Given the description of an element on the screen output the (x, y) to click on. 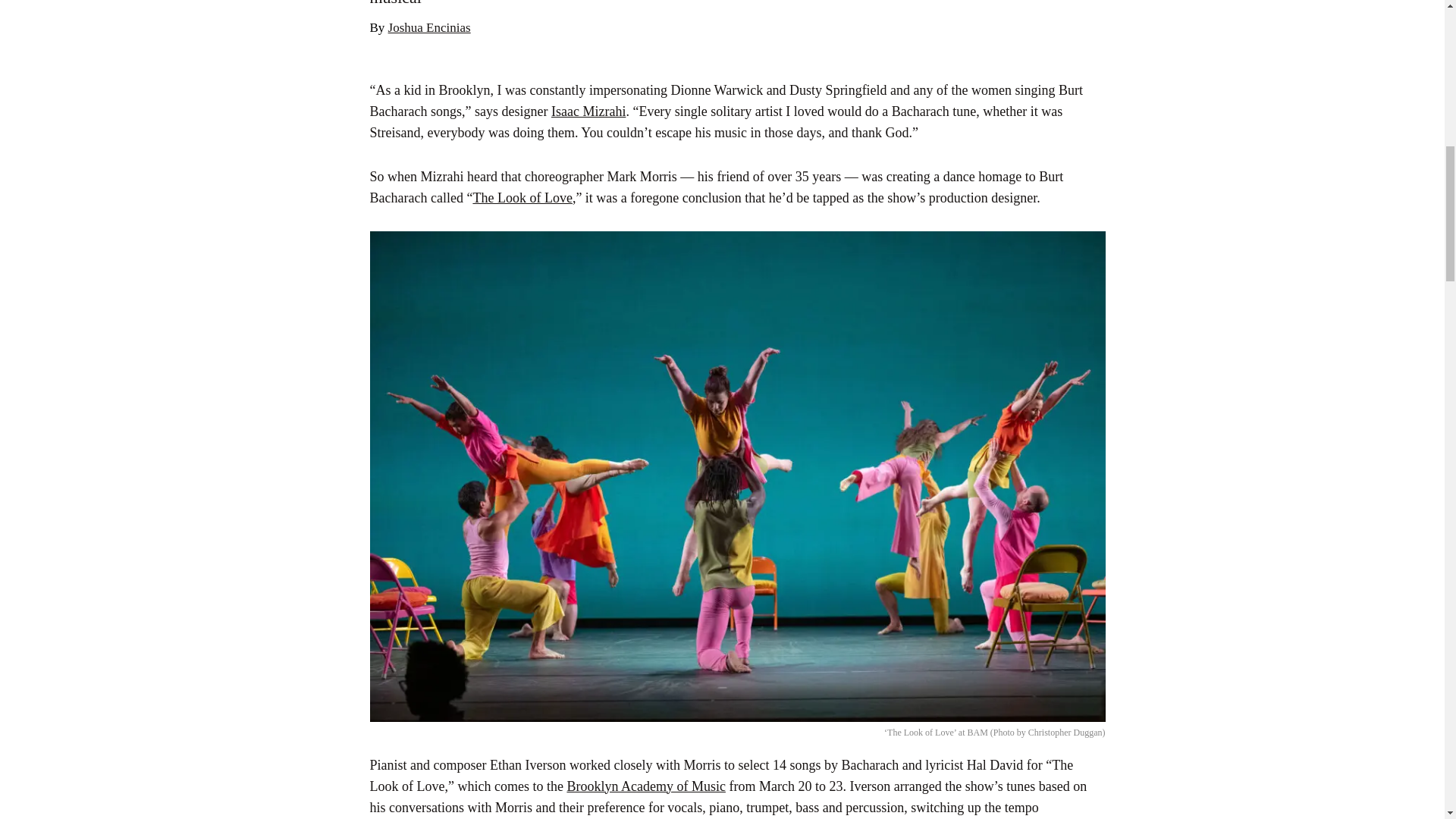
Posts by Joshua Encinias (429, 27)
